Given the description of an element on the screen output the (x, y) to click on. 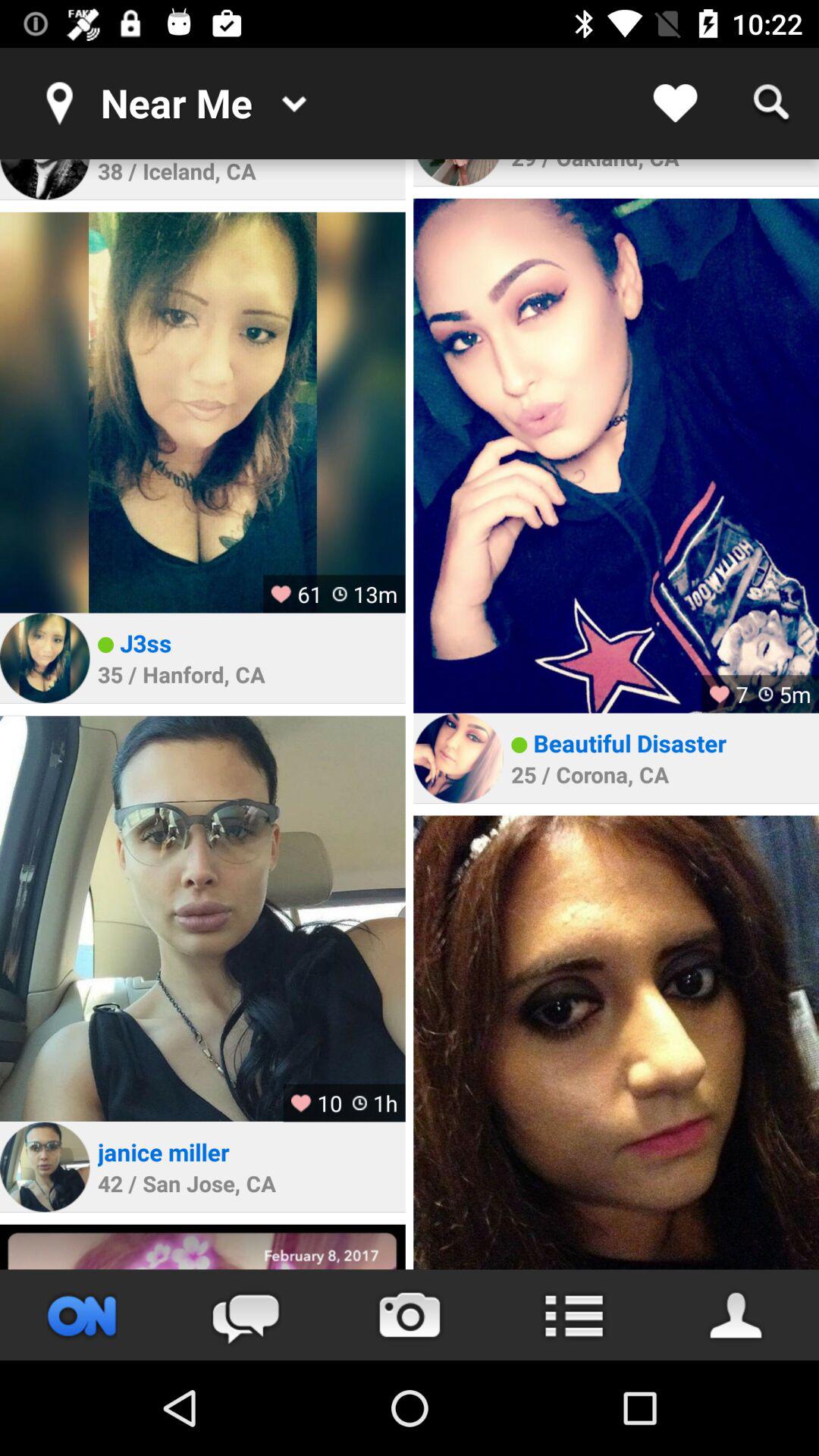
take a picture (409, 1315)
